Given the description of an element on the screen output the (x, y) to click on. 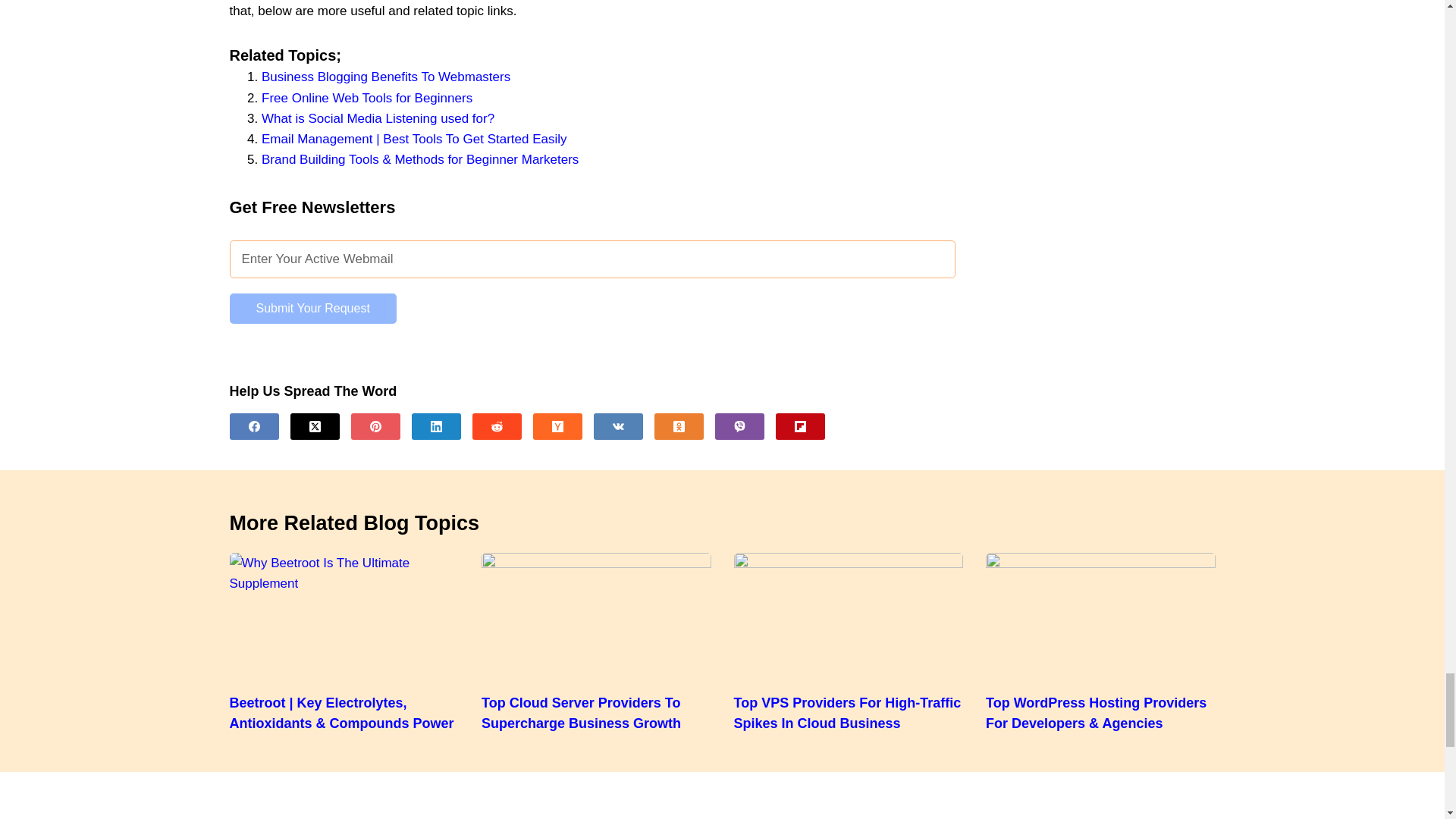
What Is Business Blogging? SEO Webmaster Simple Guide (386, 76)
